Given the description of an element on the screen output the (x, y) to click on. 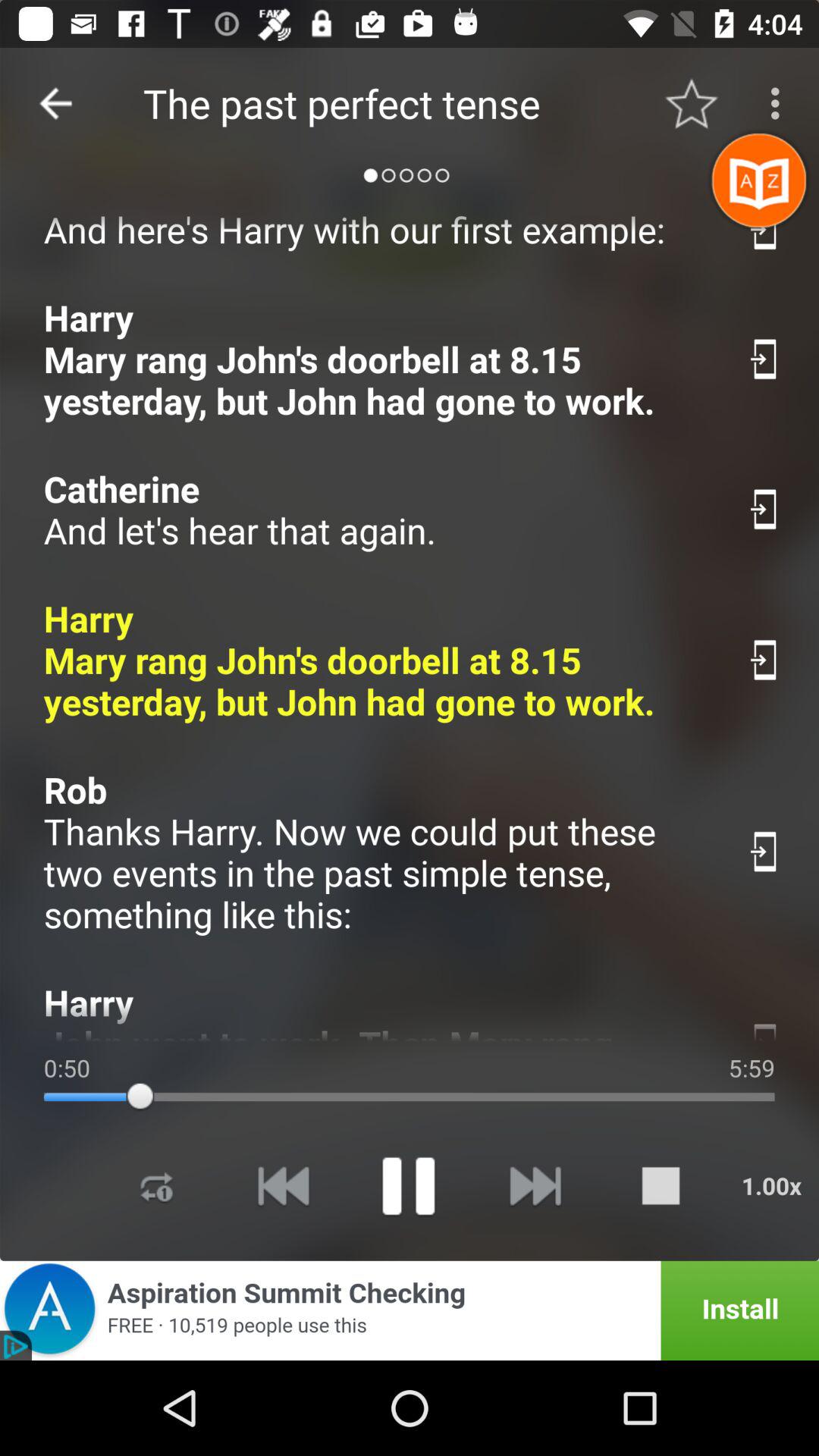
send your phone (765, 1027)
